Given the description of an element on the screen output the (x, y) to click on. 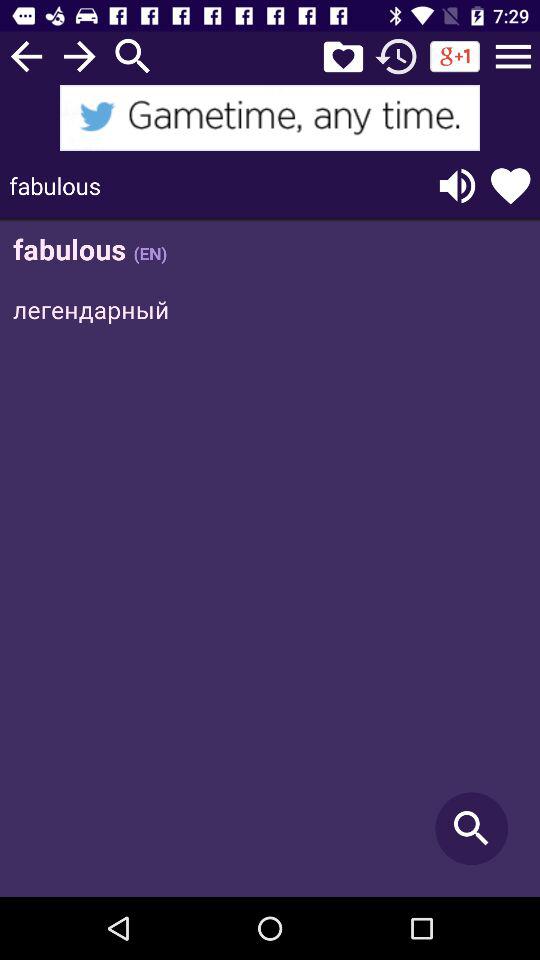
show menu (513, 56)
